Given the description of an element on the screen output the (x, y) to click on. 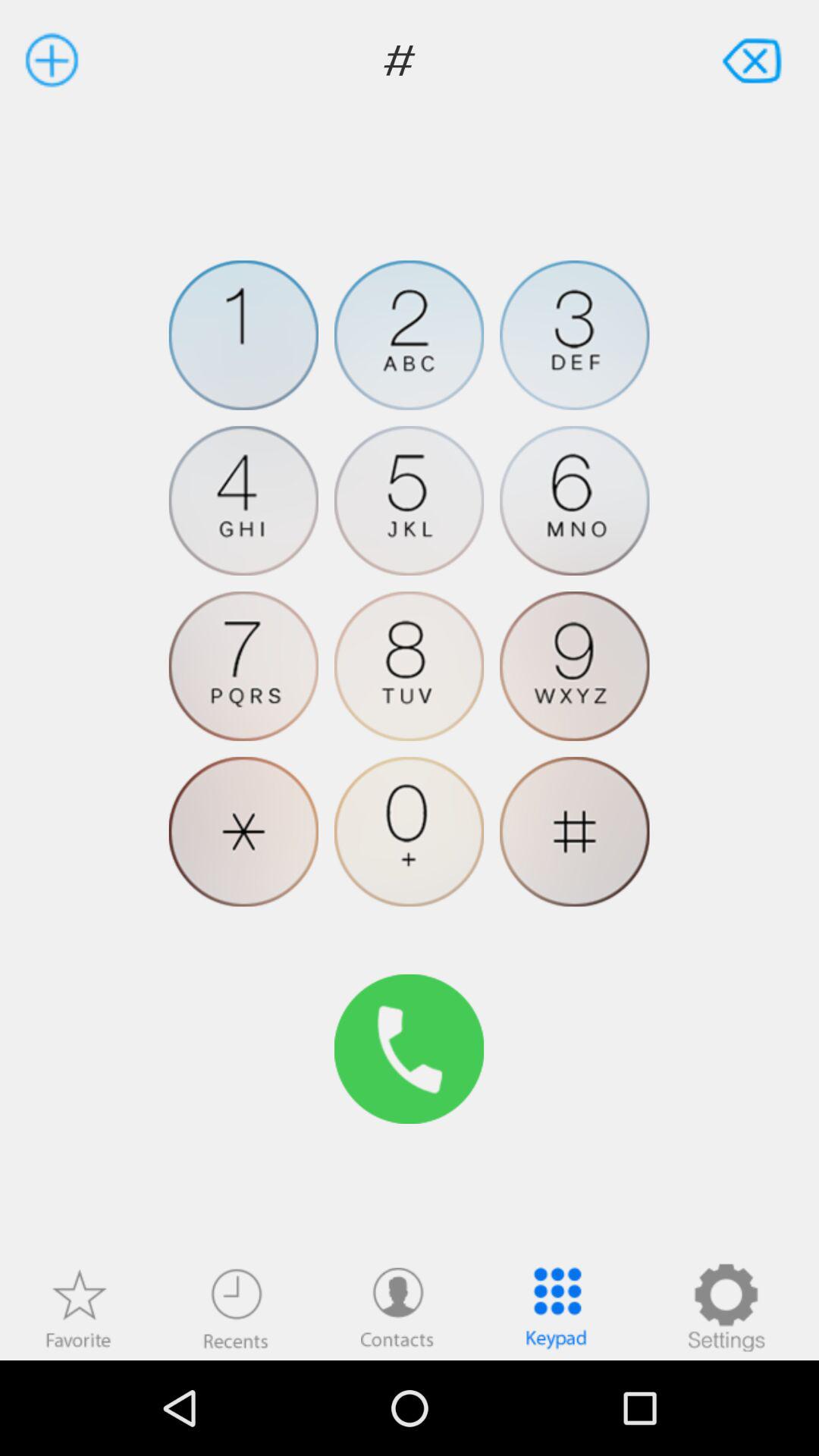
press number 7 (243, 666)
